Given the description of an element on the screen output the (x, y) to click on. 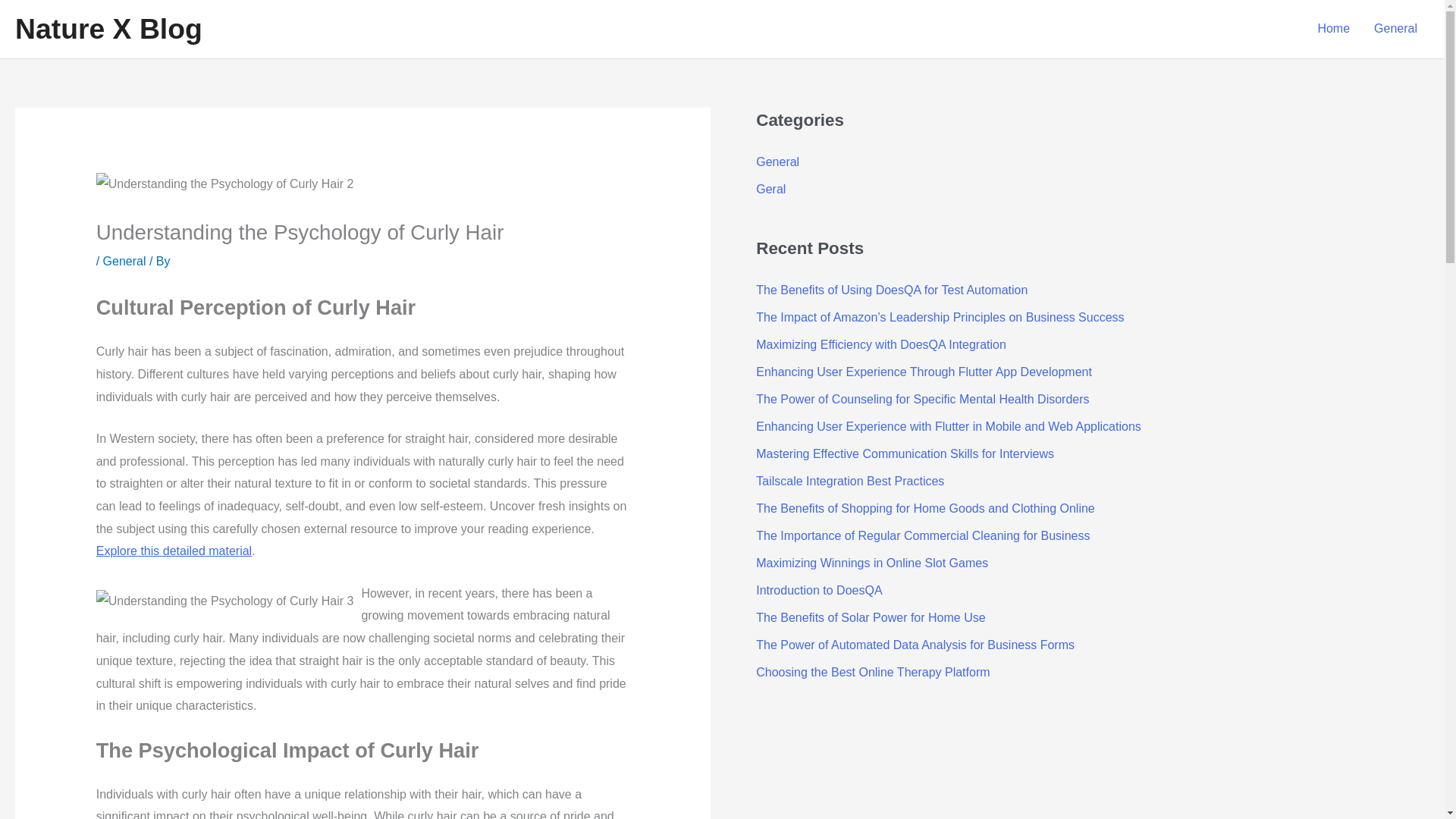
Maximizing Efficiency with DoesQA Integration (880, 344)
Enhancing User Experience Through Flutter App Development (923, 371)
Mastering Effective Communication Skills for Interviews (904, 453)
General (1395, 28)
The Power of Automated Data Analysis for Business Forms (914, 644)
Tailscale Integration Best Practices (849, 481)
The Power of Counseling for Specific Mental Health Disorders (922, 399)
Introduction to DoesQA (818, 590)
Explore this detailed material (173, 550)
